Given the description of an element on the screen output the (x, y) to click on. 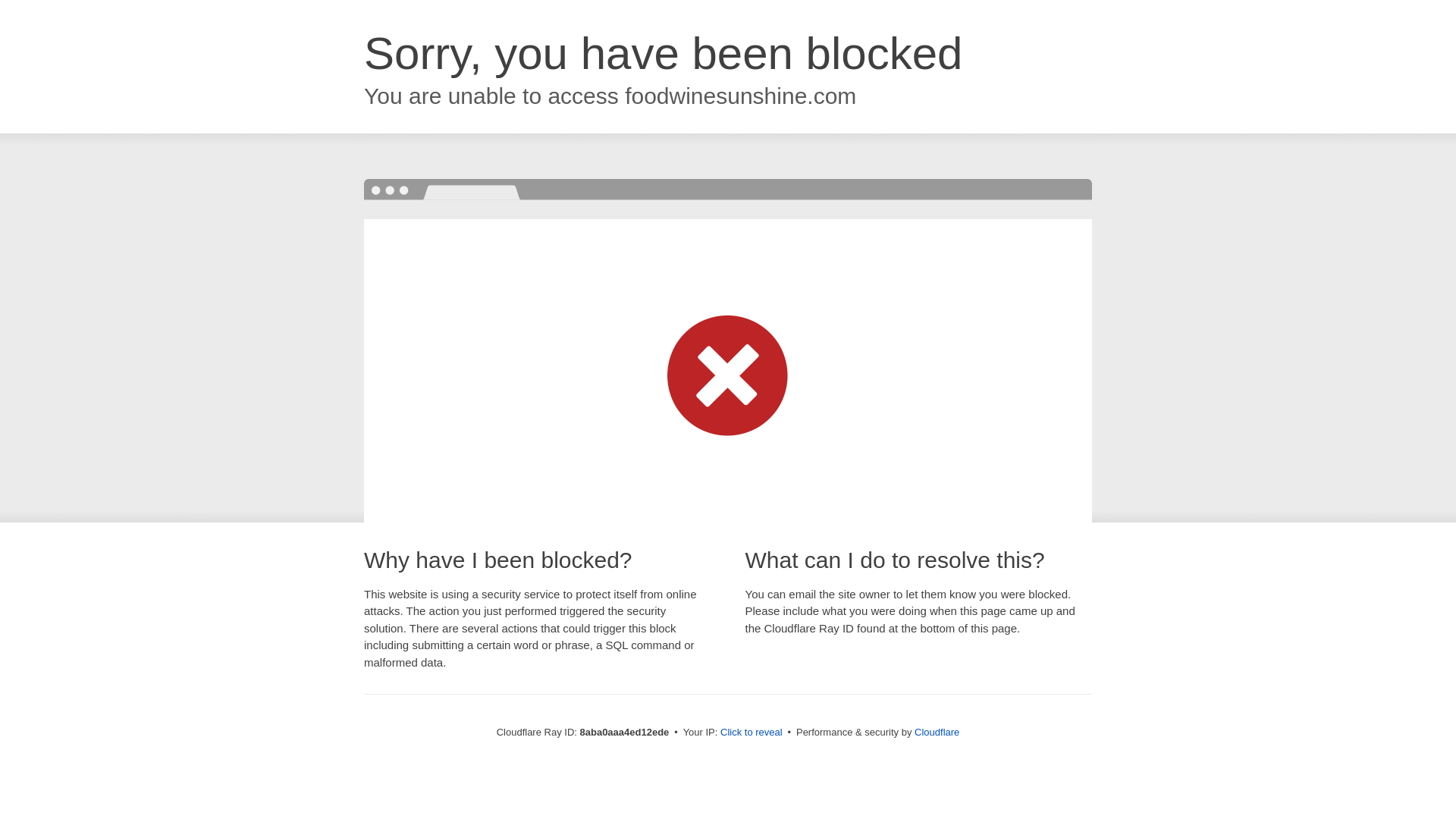
Cloudflare (936, 731)
Click to reveal (751, 732)
